Given the description of an element on the screen output the (x, y) to click on. 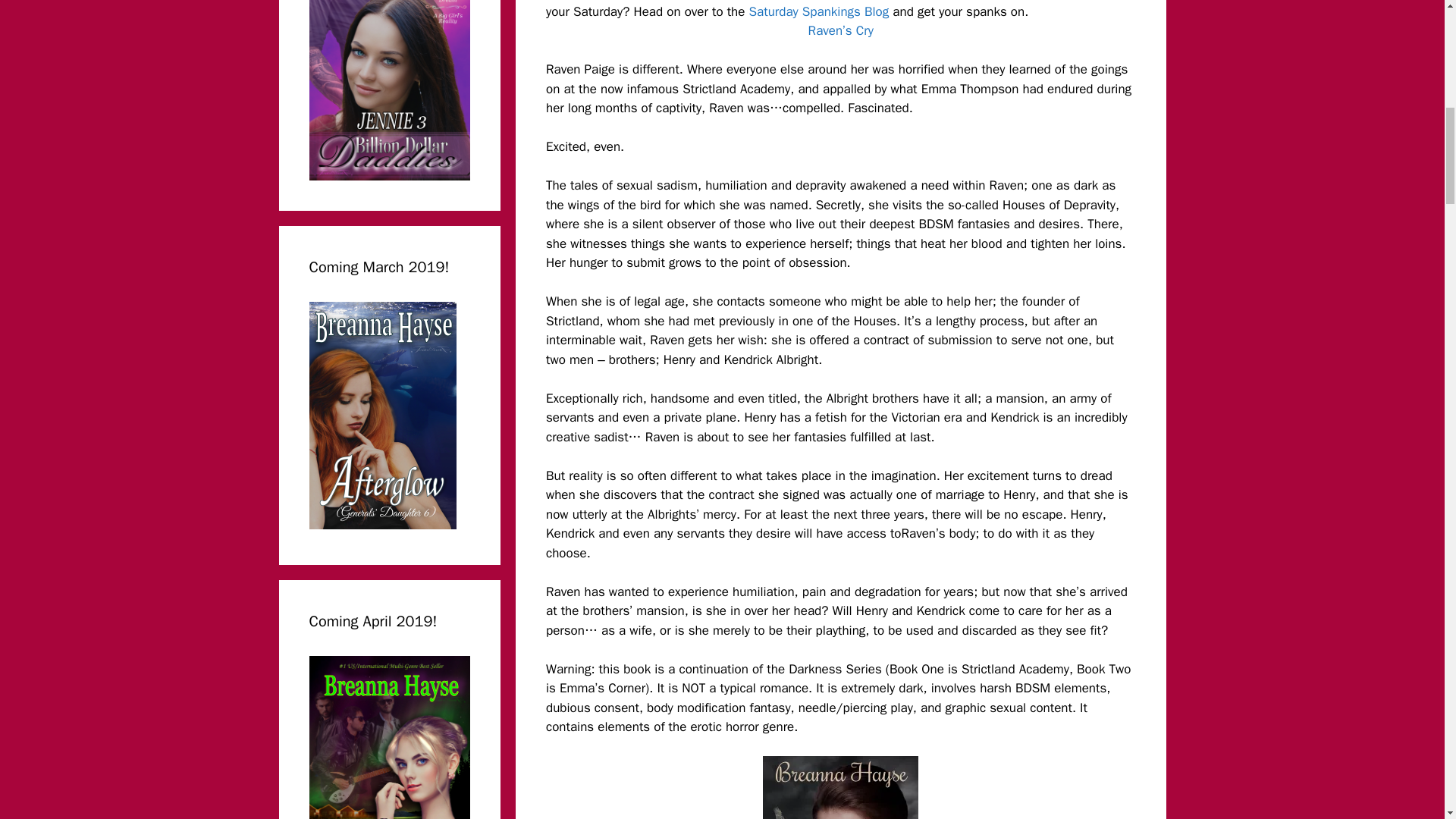
Saturday Spankings Blog (819, 11)
